Given the description of an element on the screen output the (x, y) to click on. 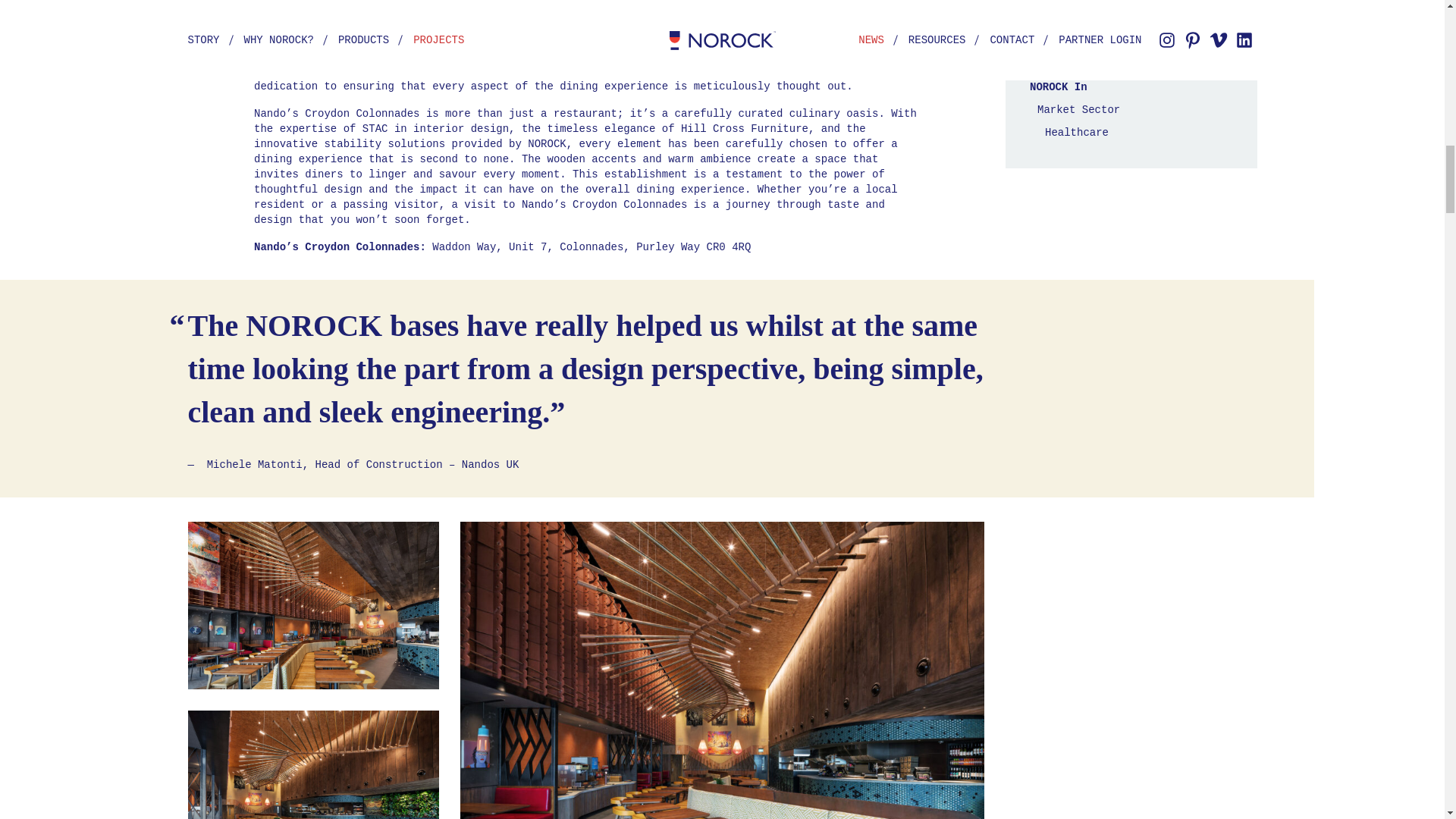
Terrace (518, 0)
Parkway (665, 25)
